Given the description of an element on the screen output the (x, y) to click on. 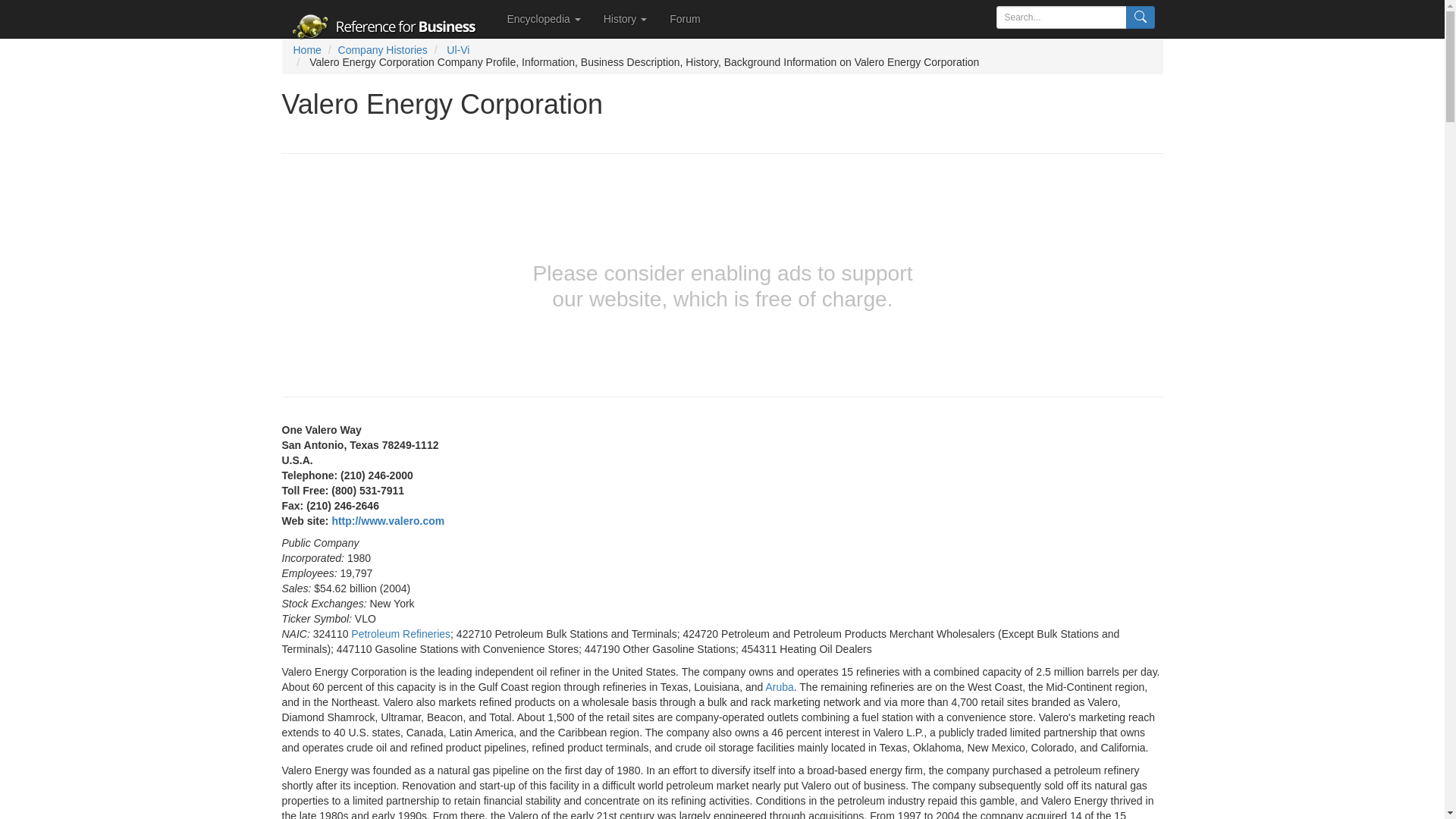
Petroleum Refineries (399, 633)
Company Histories (382, 50)
History (625, 18)
Forum (684, 18)
Aruba (779, 686)
View 'petroleum refineries' definition from Wikipedia (399, 633)
Encyclopedia (544, 18)
Home (306, 50)
Ul-Vi (457, 50)
